Given the description of an element on the screen output the (x, y) to click on. 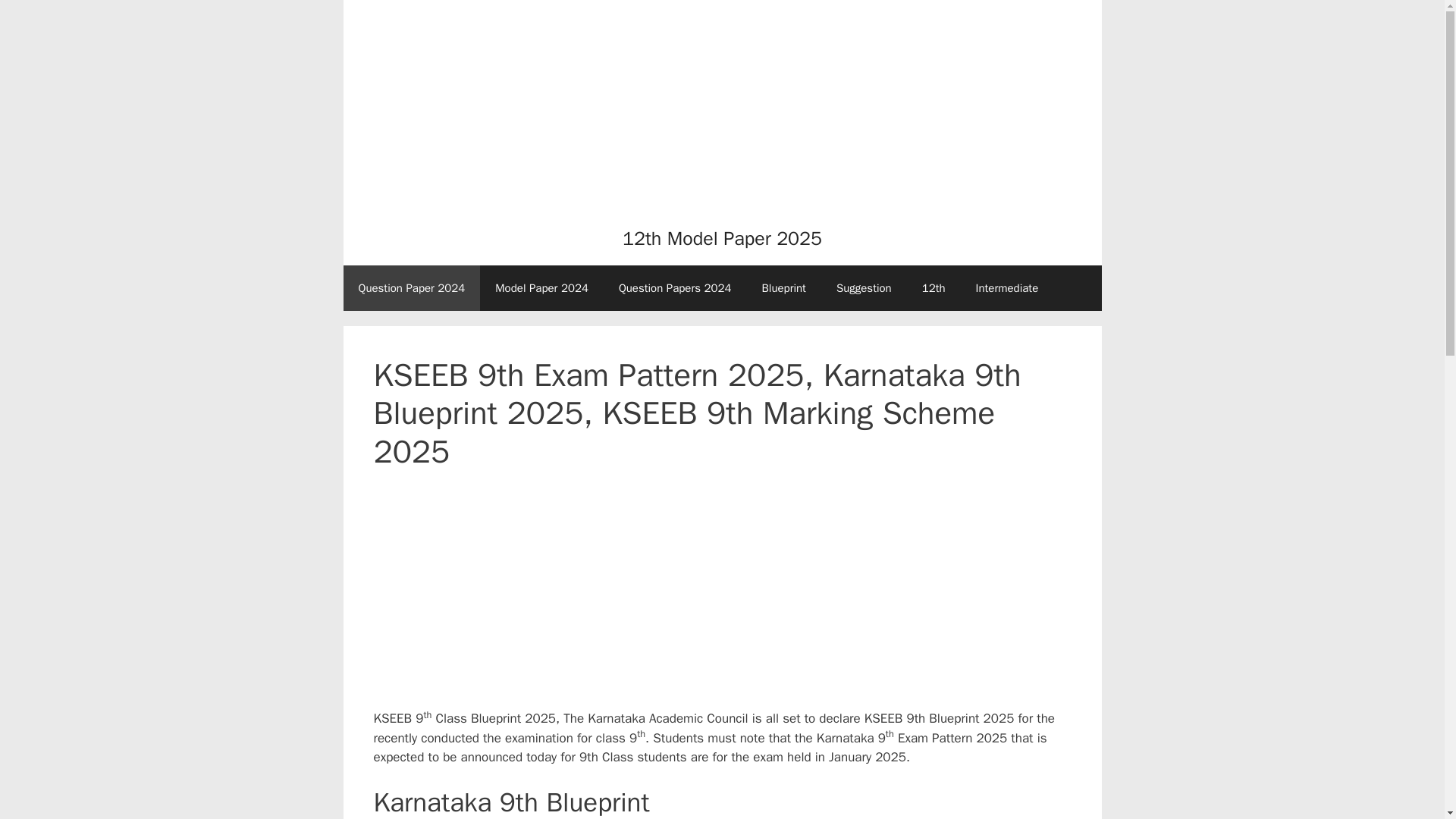
Model Paper 2024 (542, 288)
12th (933, 288)
Intermediate (1007, 288)
Suggestion (864, 288)
12th Model Paper 2025 (722, 238)
Question Papers 2024 (675, 288)
Blueprint (783, 288)
Question Paper 2024 (411, 288)
